Given the description of an element on the screen output the (x, y) to click on. 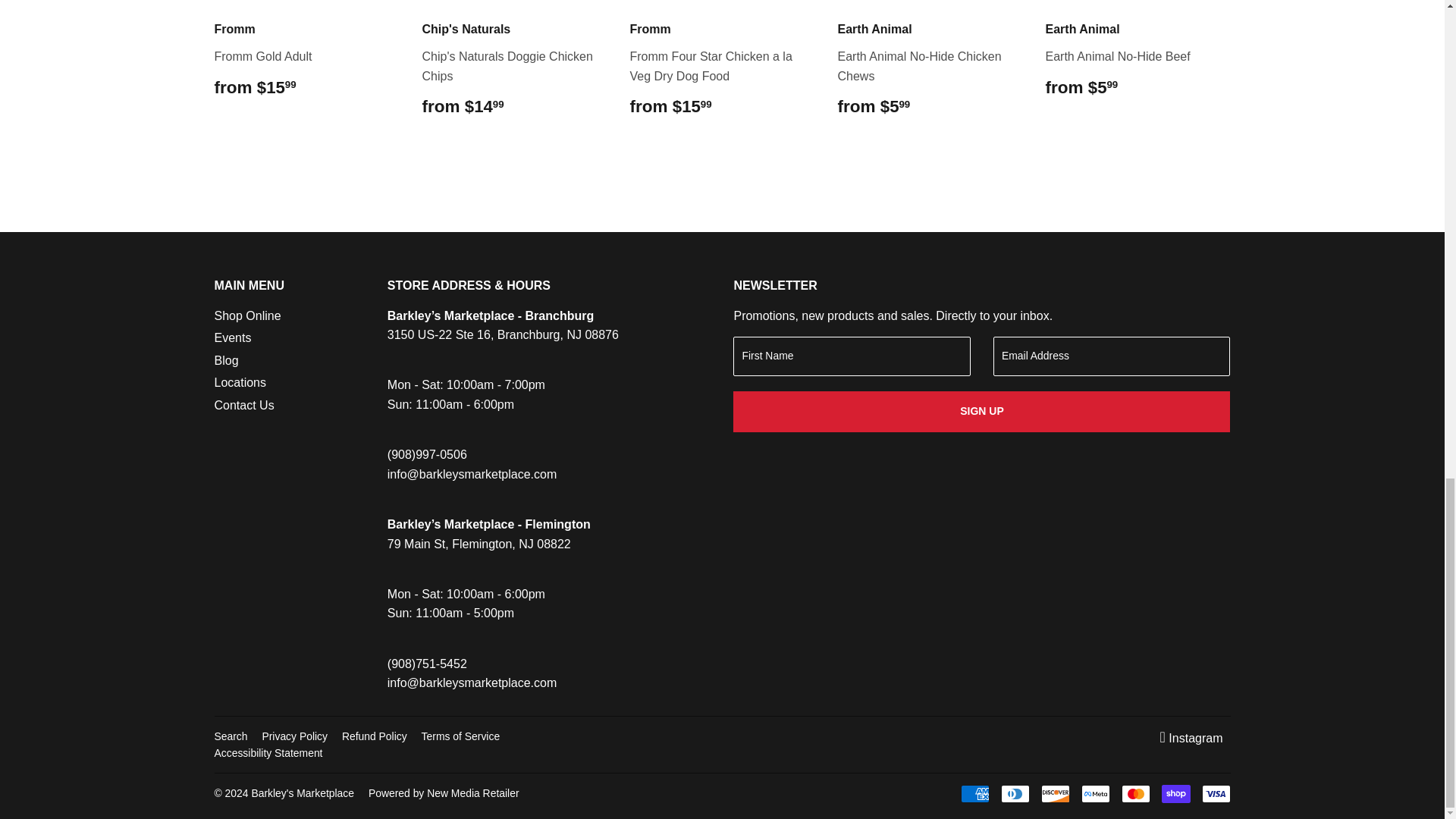
Meta Pay (1095, 793)
Mastercard (1135, 793)
Diners Club (1015, 793)
Shop Pay (1176, 793)
American Express (973, 793)
Visa (1215, 793)
New Media Retailer (443, 793)
Discover (1054, 793)
